Given the description of an element on the screen output the (x, y) to click on. 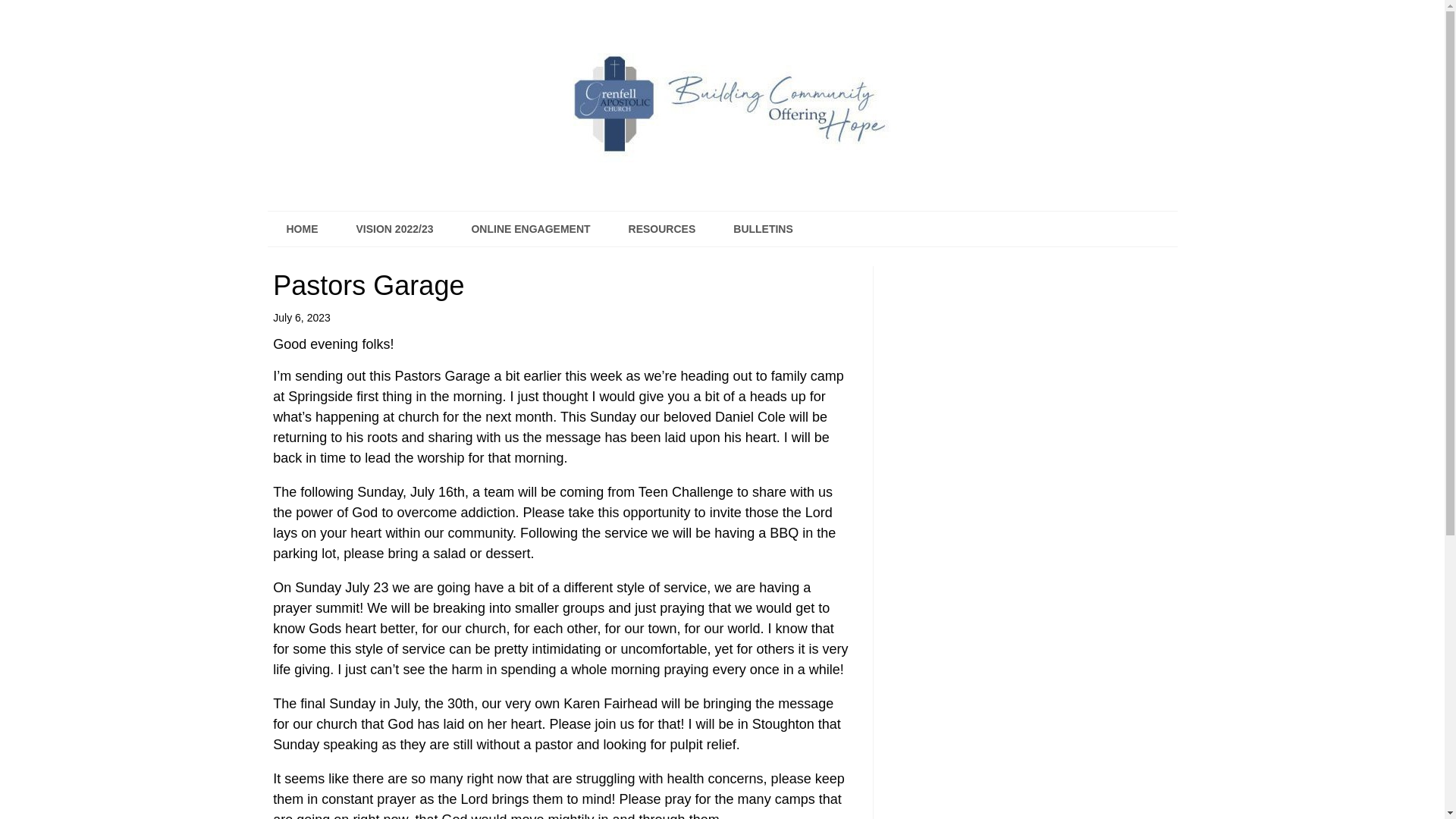
HOME (301, 228)
ONLINE ENGAGEMENT (529, 228)
RESOURCES (662, 228)
BULLETINS (763, 228)
